Given the description of an element on the screen output the (x, y) to click on. 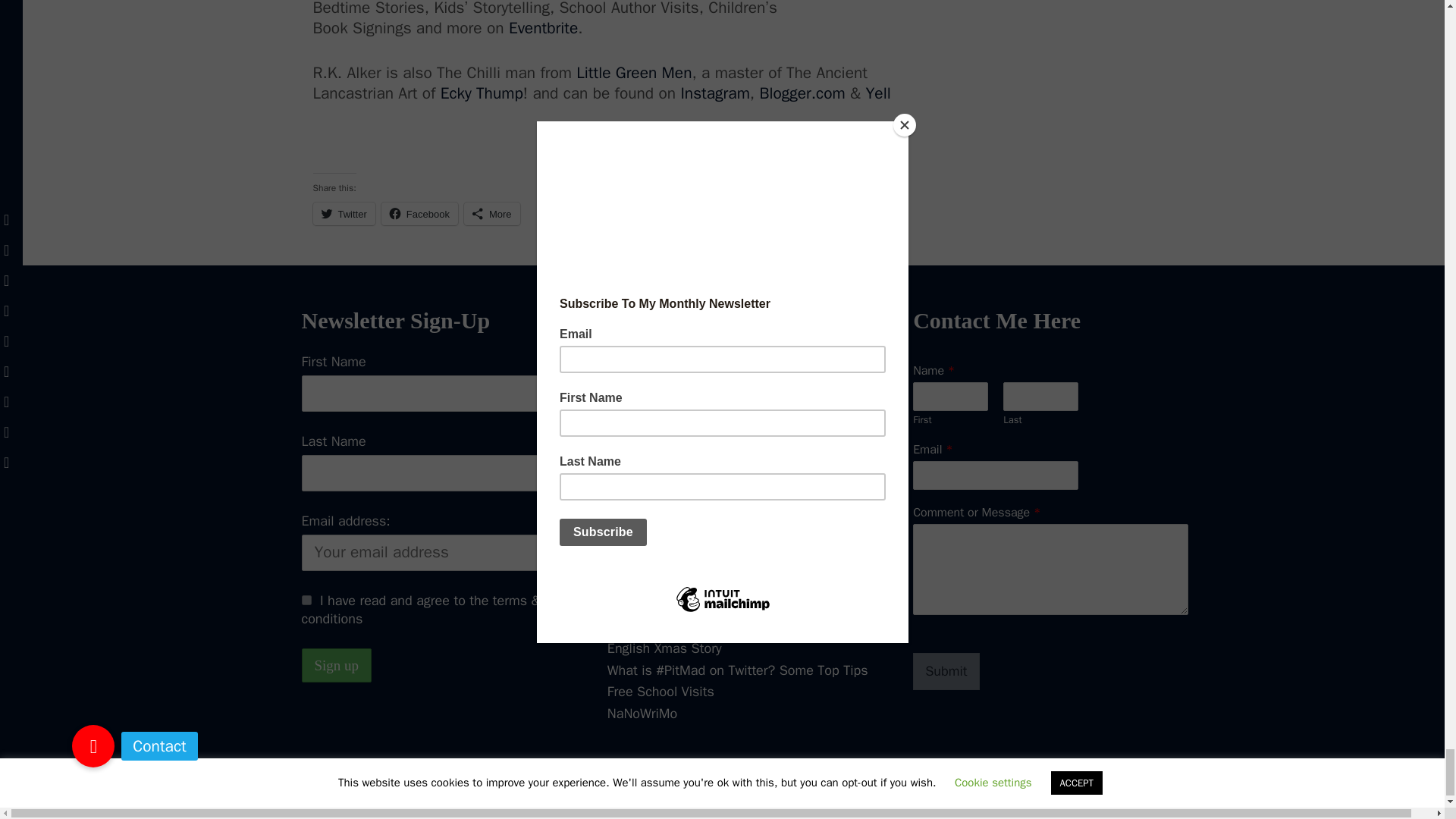
Click to share on Facebook (419, 213)
Sign up (336, 665)
1 (306, 600)
Click to share on Twitter (343, 213)
